Given the description of an element on the screen output the (x, y) to click on. 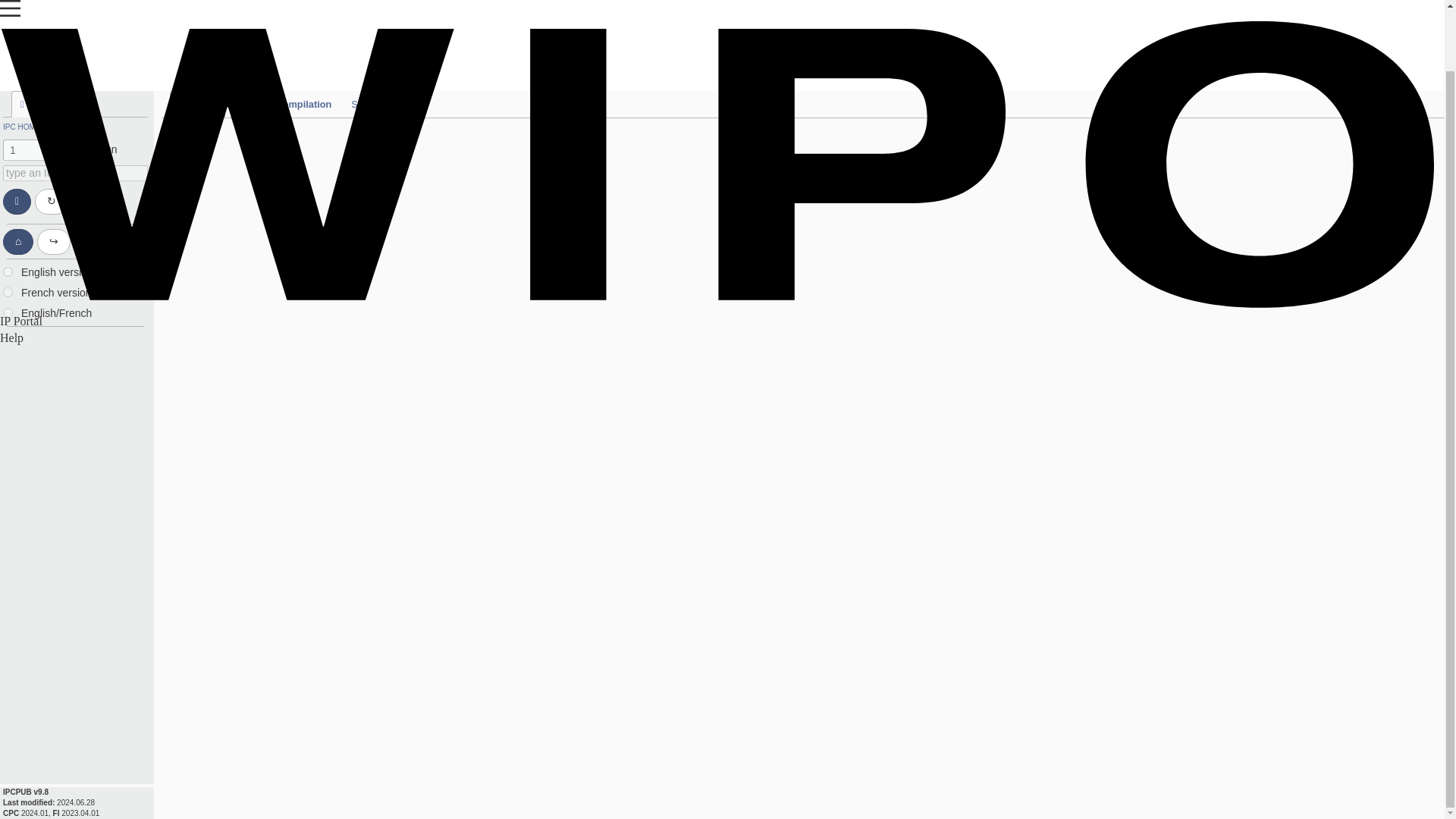
l1 (7, 204)
l3 (7, 245)
DOWNLOAD (71, 58)
Compilation (303, 37)
Search (366, 37)
l2 (7, 225)
RCL (245, 37)
Scheme (197, 37)
IPC HOME (21, 58)
